Given the description of an element on the screen output the (x, y) to click on. 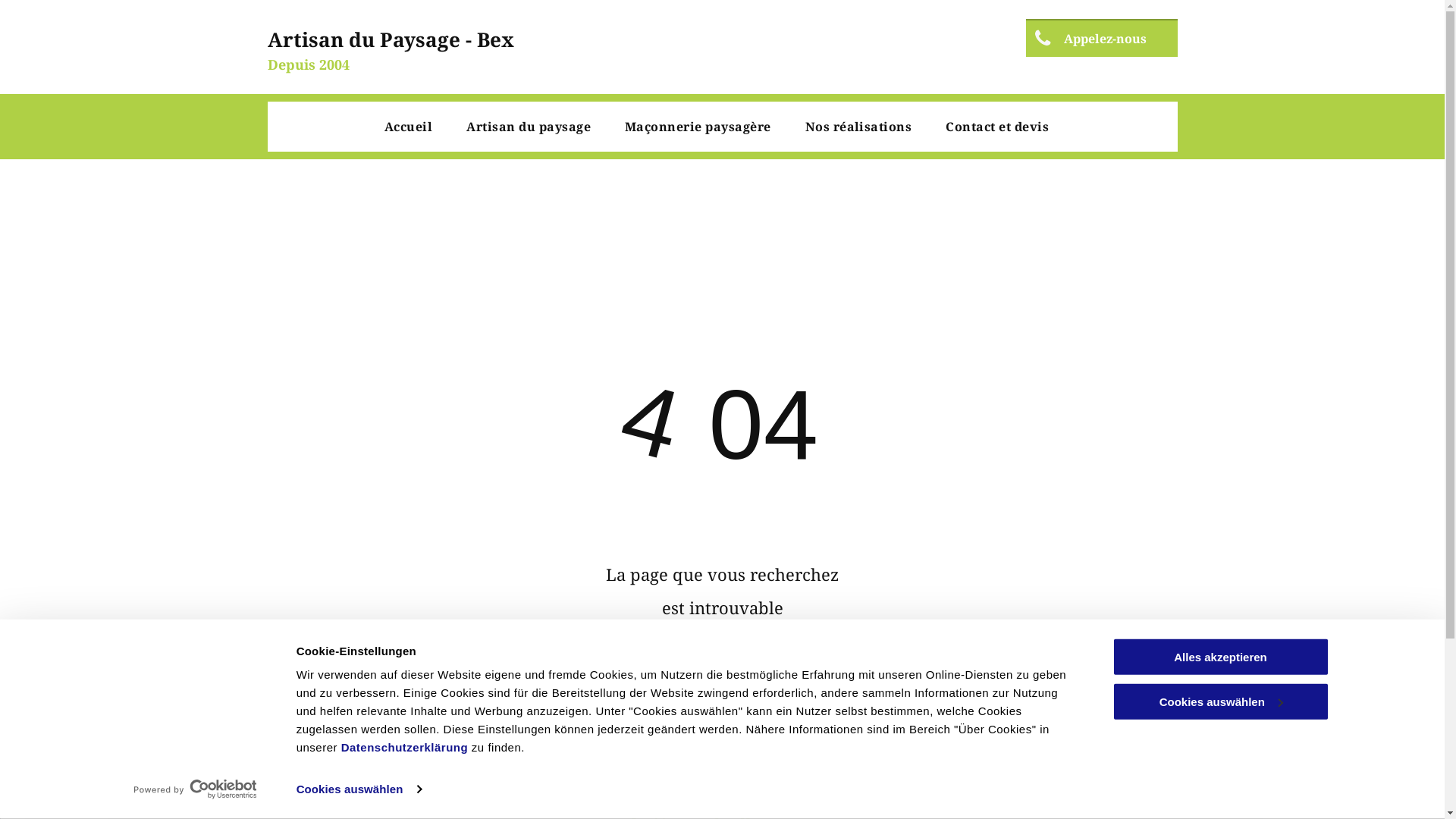
Artisan du paysage Element type: text (528, 126)
du Paysage Element type: text (404, 39)
Artisan Element type: text (304, 39)
Alles akzeptieren Element type: text (1219, 656)
Accueil Element type: text (408, 126)
Appelez-nous Element type: text (1100, 37)
Contact et devis Element type: text (997, 126)
